Given the description of an element on the screen output the (x, y) to click on. 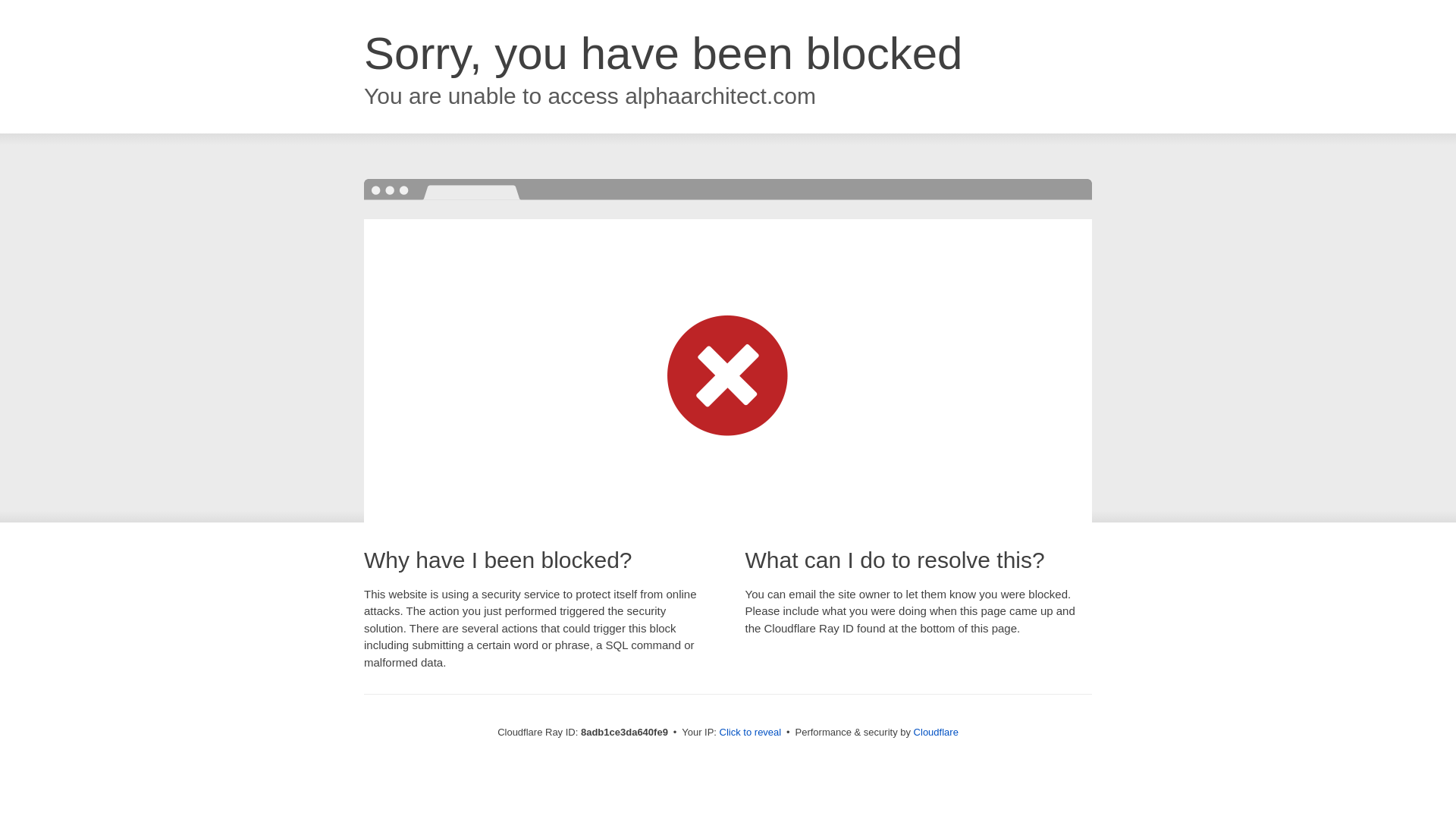
Cloudflare (936, 731)
Click to reveal (750, 732)
